Given the description of an element on the screen output the (x, y) to click on. 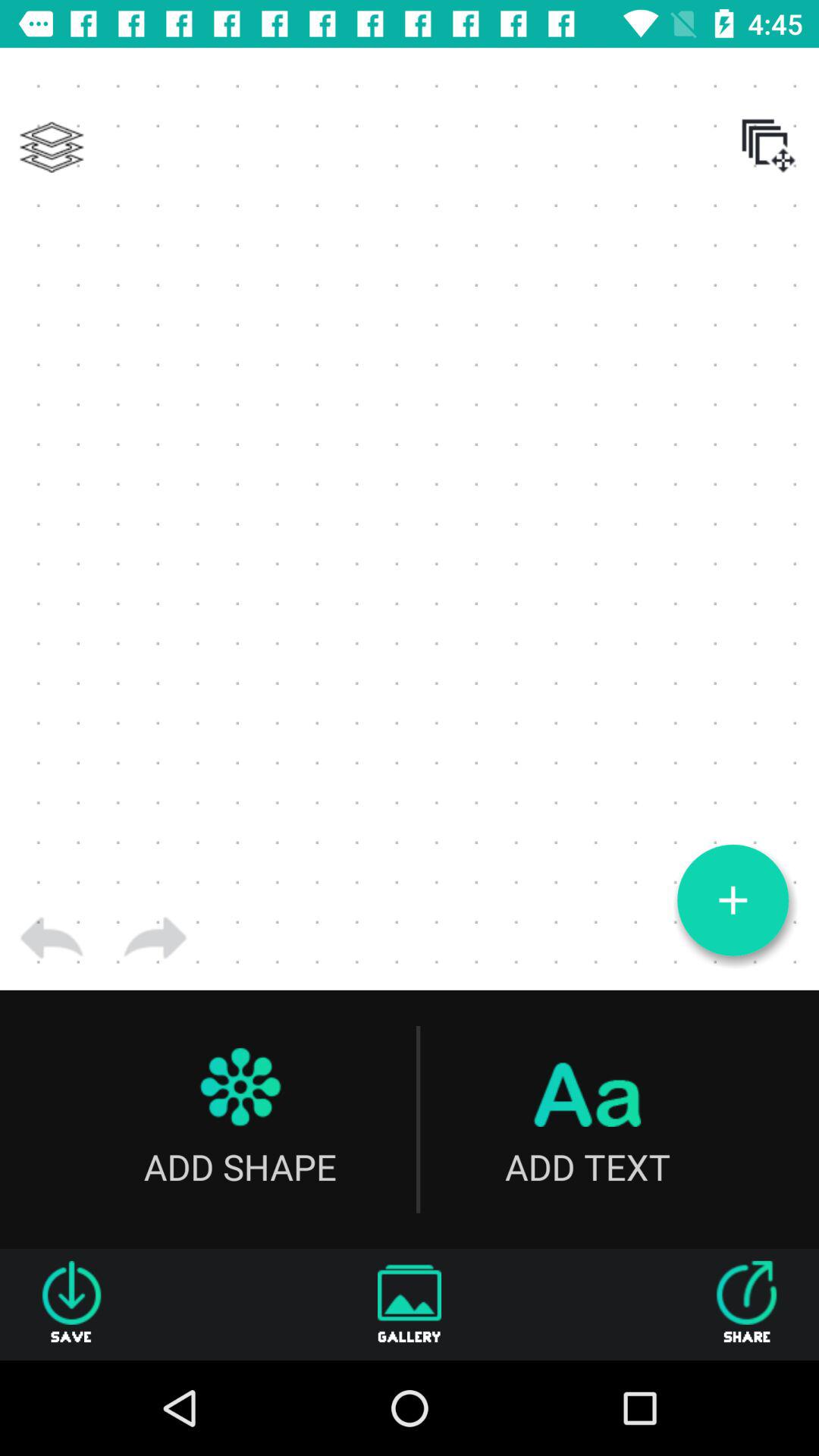
click item above the add text (733, 900)
